Given the description of an element on the screen output the (x, y) to click on. 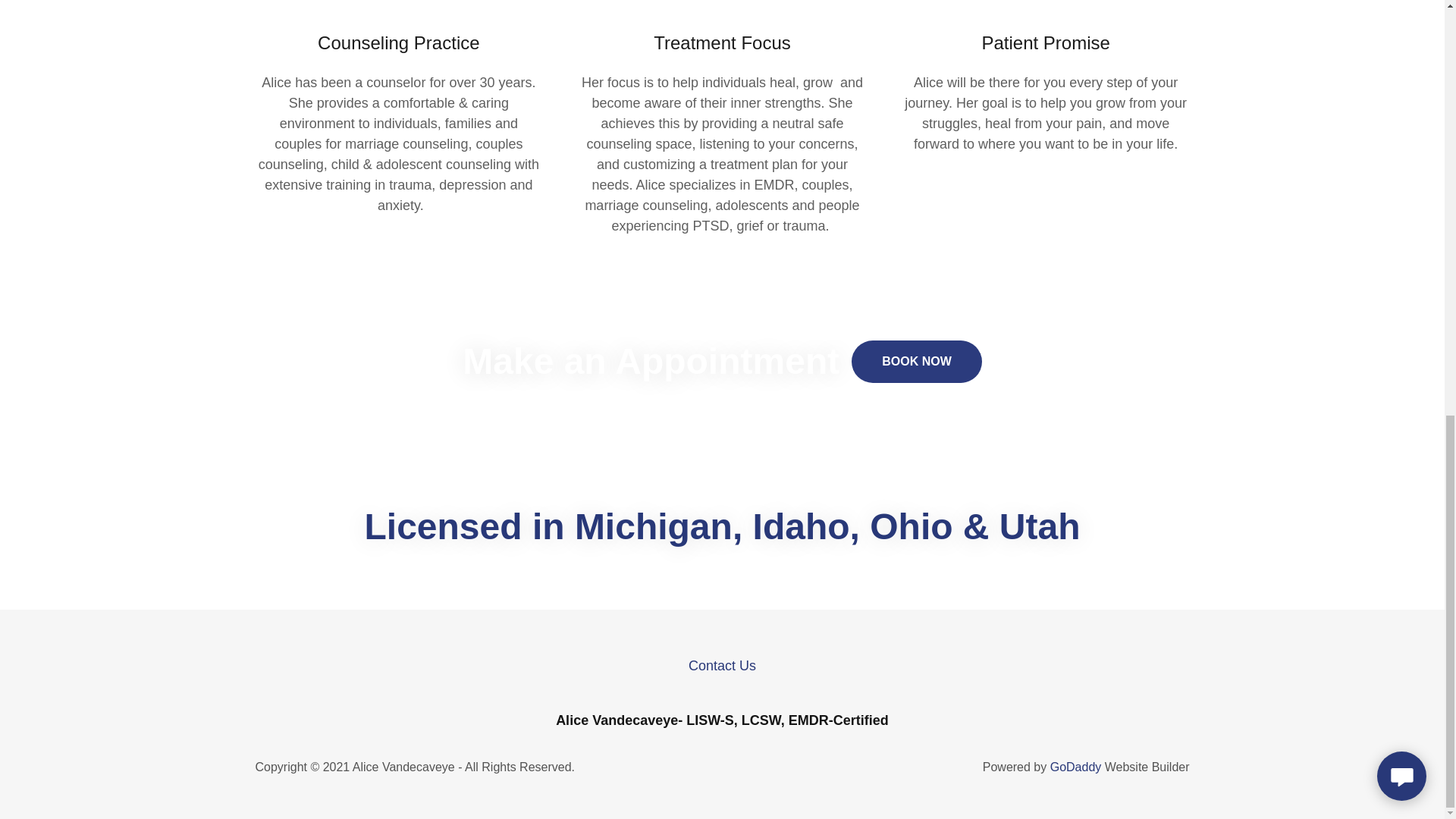
GoDaddy (1075, 766)
Contact Us (721, 665)
BOOK NOW (916, 361)
